Given the description of an element on the screen output the (x, y) to click on. 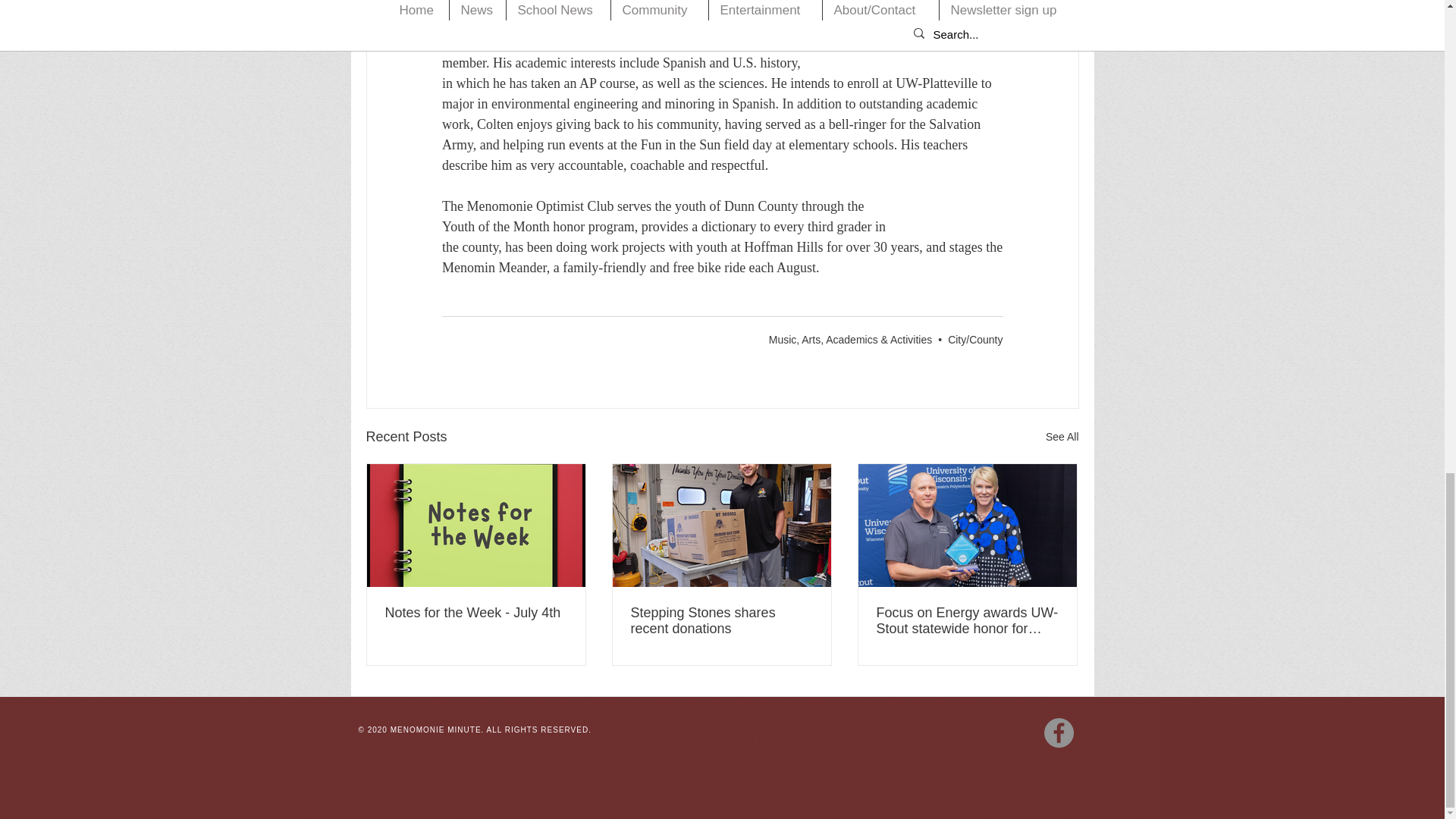
See All (1061, 436)
